Given the description of an element on the screen output the (x, y) to click on. 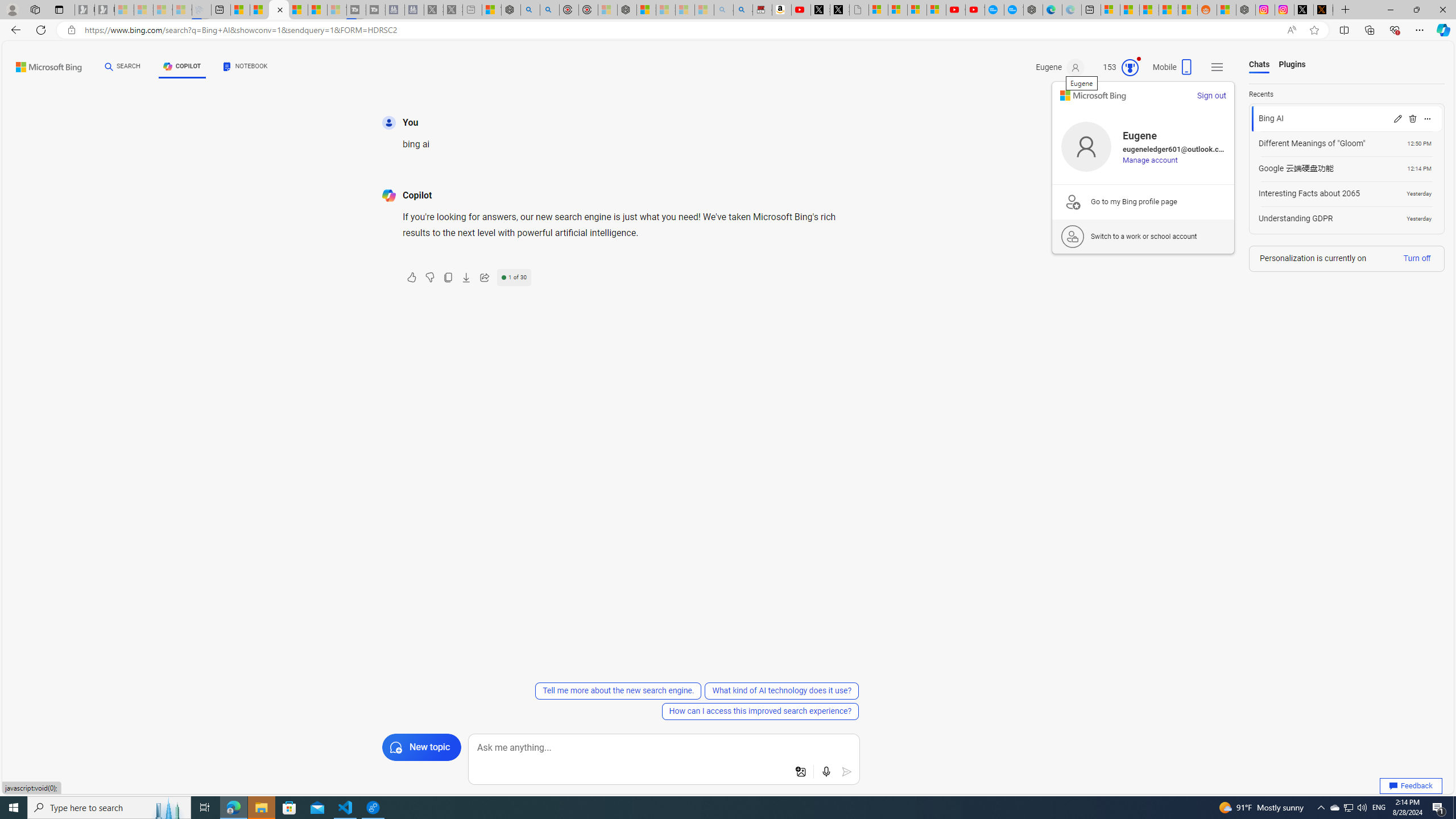
Rename (1397, 118)
Read aloud this page (Ctrl+Shift+U) (1291, 29)
Share (484, 277)
The most popular Google 'how to' searches (1012, 9)
Gloom - YouTube (954, 9)
Workspaces (34, 9)
Skip to content (36, 63)
Dislike (429, 277)
Sign out (1210, 95)
Turn off (1416, 258)
SEARCH (122, 66)
